Given the description of an element on the screen output the (x, y) to click on. 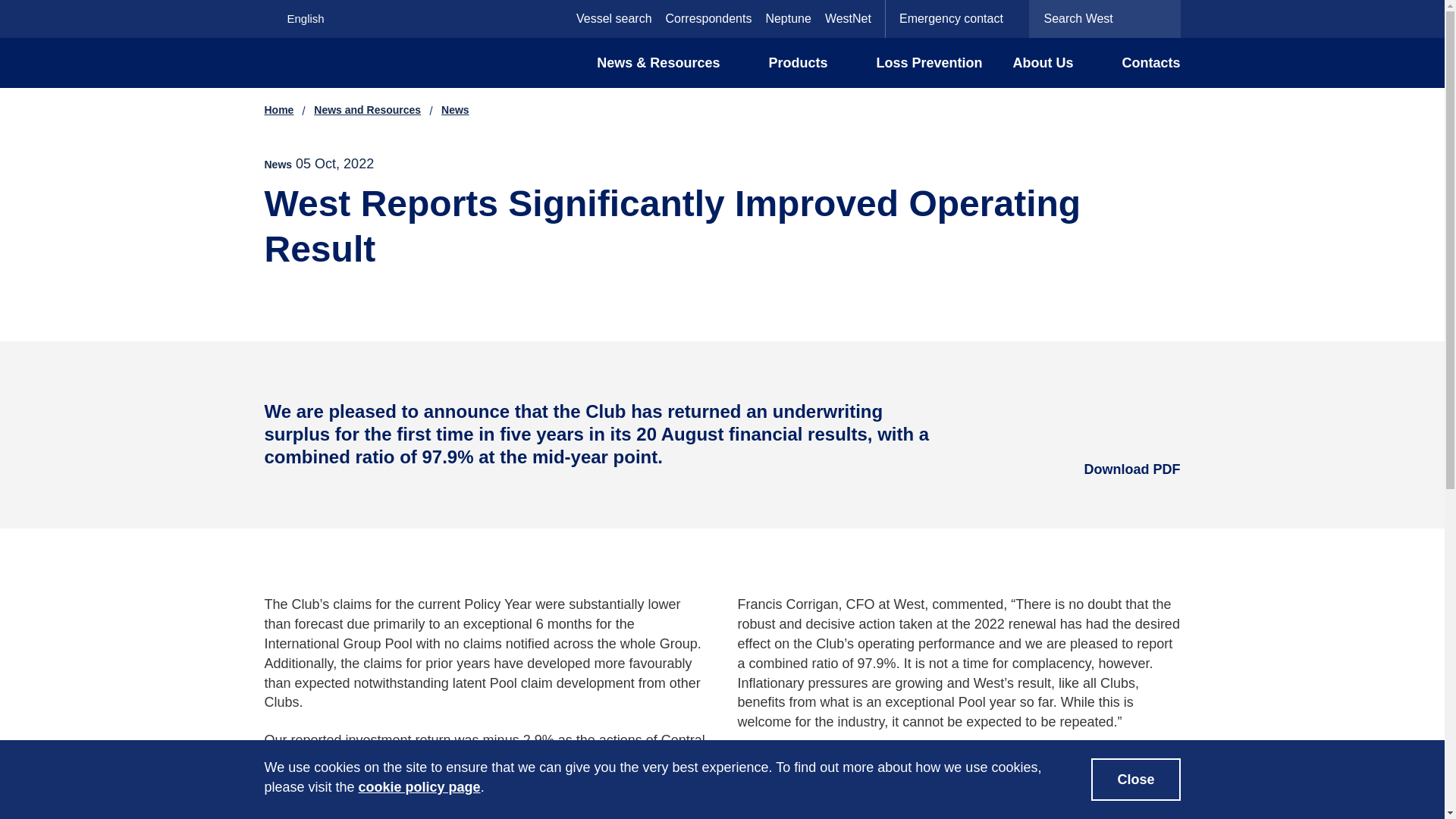
Neptune (787, 18)
Vessel search (614, 18)
English (324, 18)
Correspondents (708, 18)
Emergency contact (956, 18)
WestNet (847, 18)
